Given the description of an element on the screen output the (x, y) to click on. 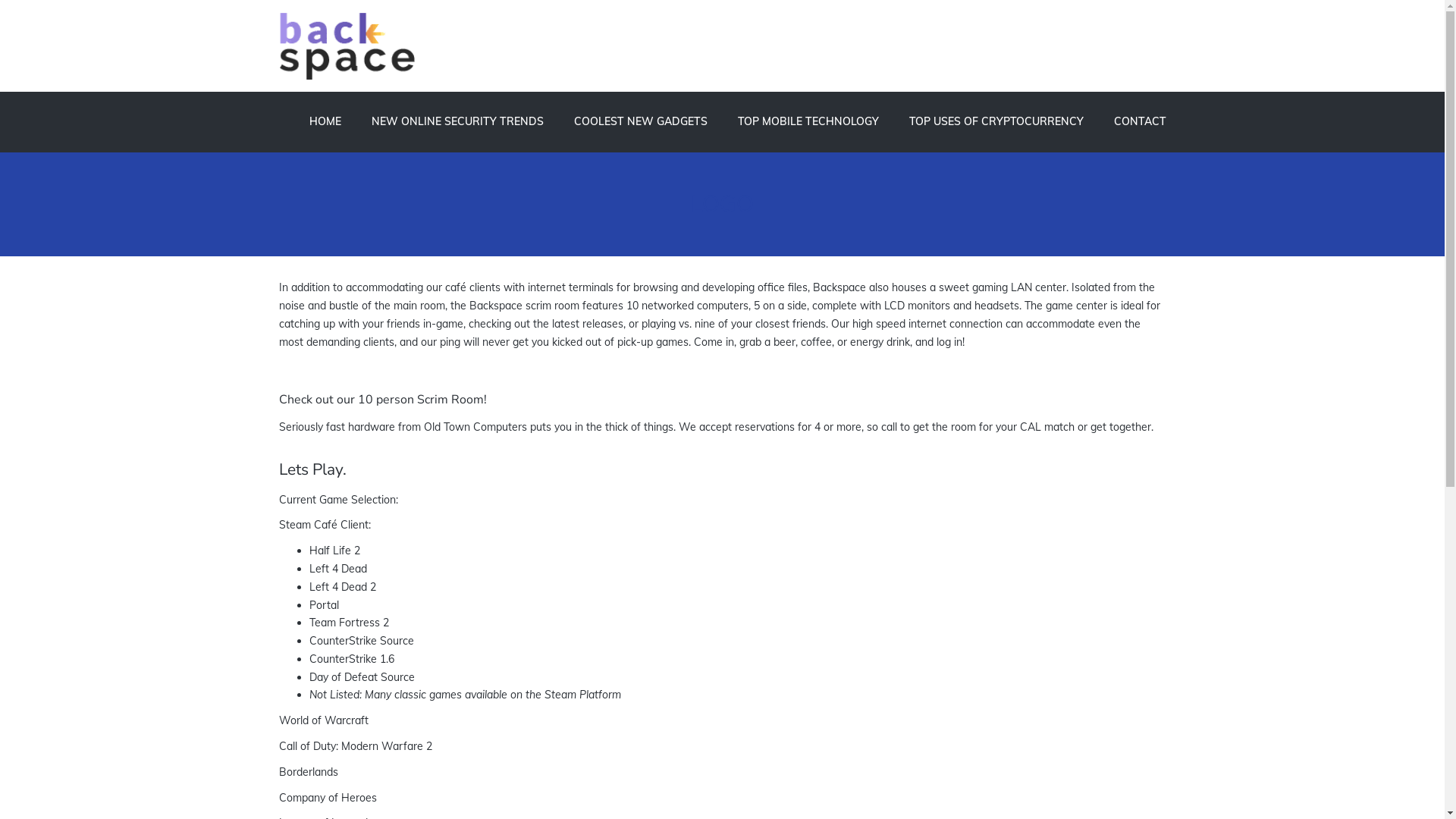
TOP USES OF CRYPTOCURRENCY Element type: text (995, 121)
LOGO Element type: text (721, 203)
COOLEST NEW GADGETS Element type: text (639, 121)
CONTACT Element type: text (1131, 121)
TOP MOBILE TECHNOLOGY Element type: text (807, 121)
NEW ONLINE SECURITY TRENDS Element type: text (457, 121)
HOME Element type: text (325, 121)
